Given the description of an element on the screen output the (x, y) to click on. 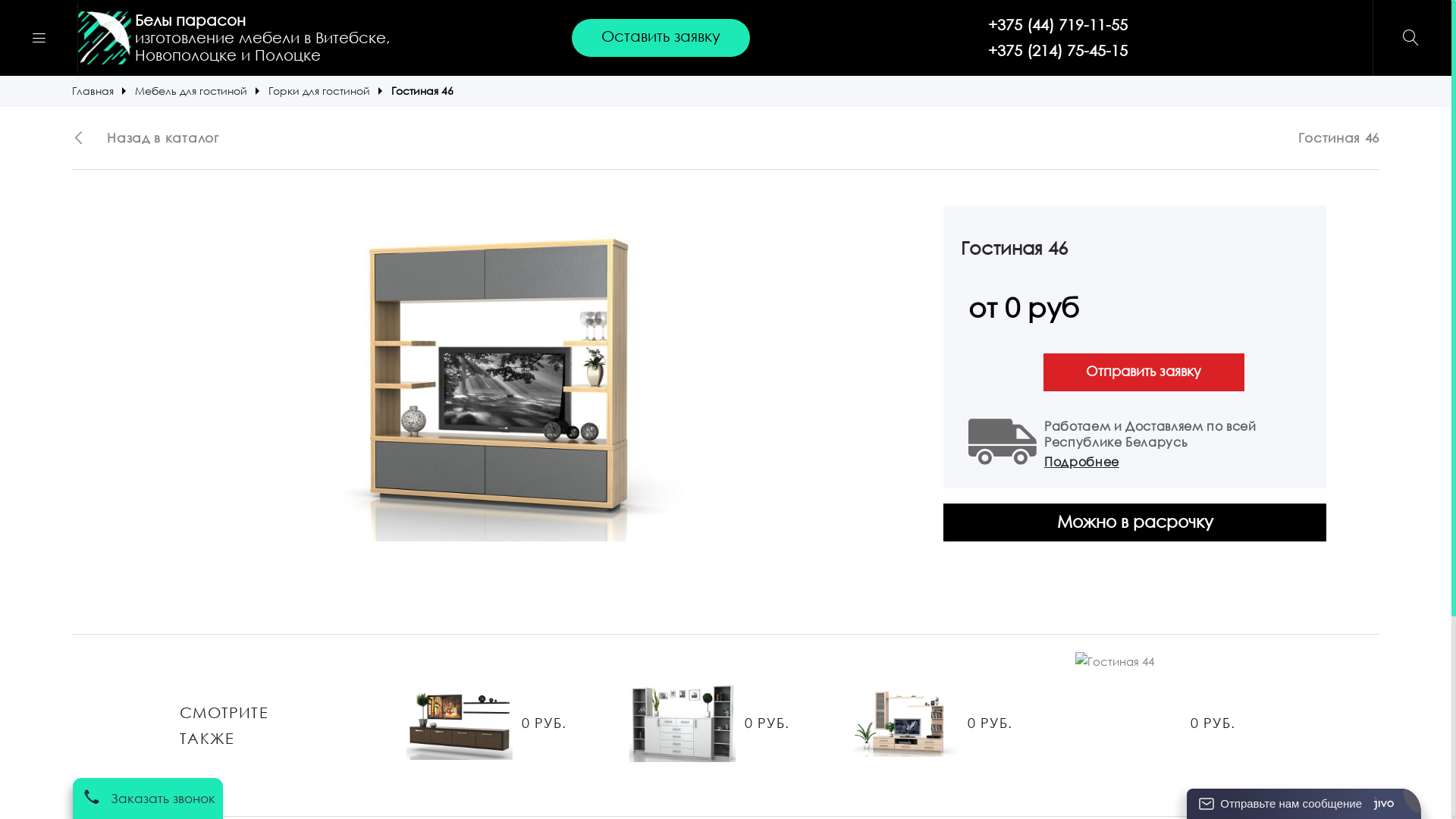
+375 (214) 75-45-15 Element type: text (1057, 50)
+375 (44) 719-11-55 Element type: text (1057, 24)
